Given the description of an element on the screen output the (x, y) to click on. 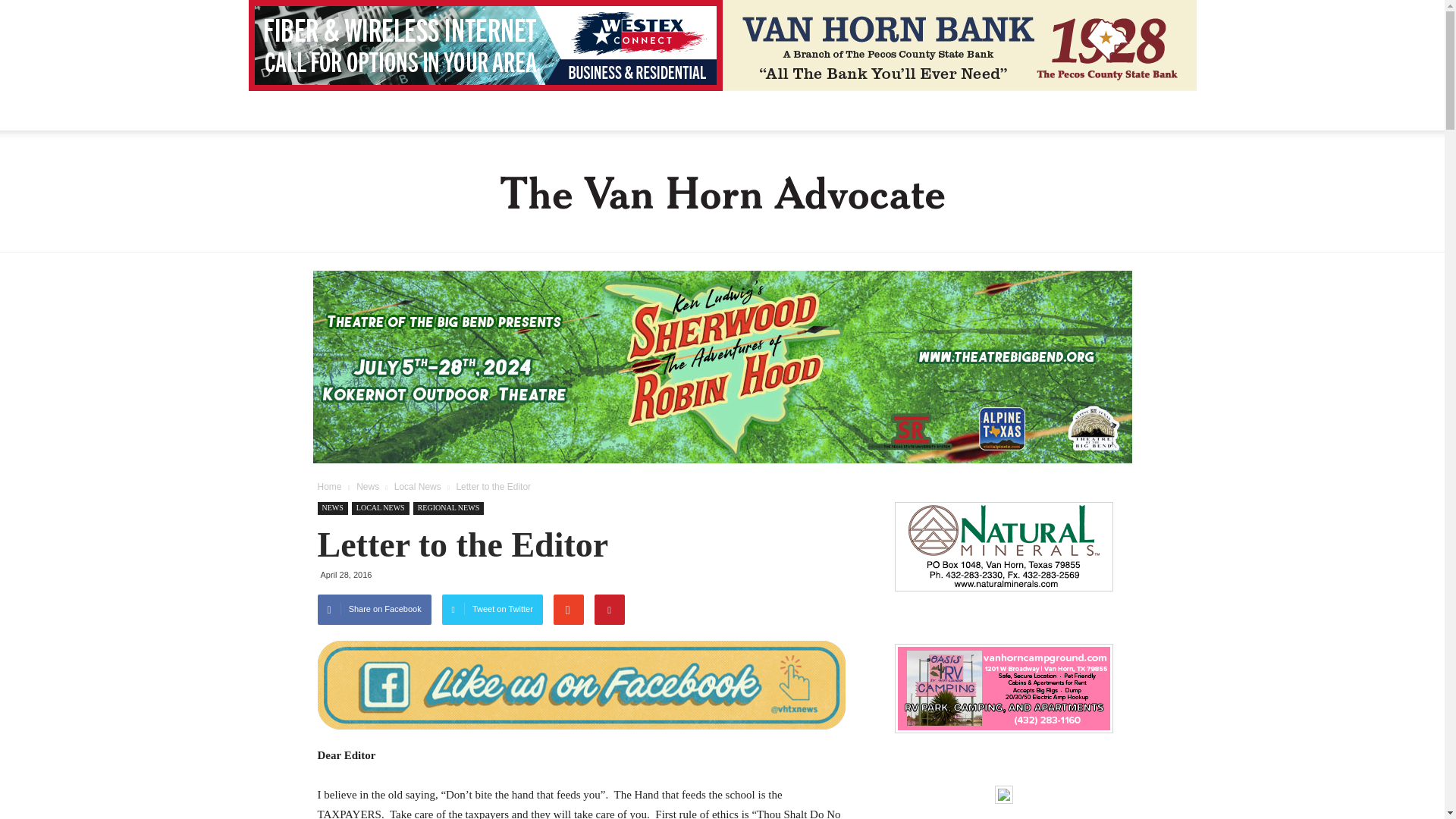
View all posts in Local News (417, 486)
Home (328, 486)
Share on Facebook (373, 609)
NEWS (332, 508)
OBITUARIES (698, 110)
Local News (417, 486)
LOCAL NEWS (380, 508)
CITY HALL (473, 110)
Tweet on Twitter (492, 609)
ADVERTISE (783, 110)
